Given the description of an element on the screen output the (x, y) to click on. 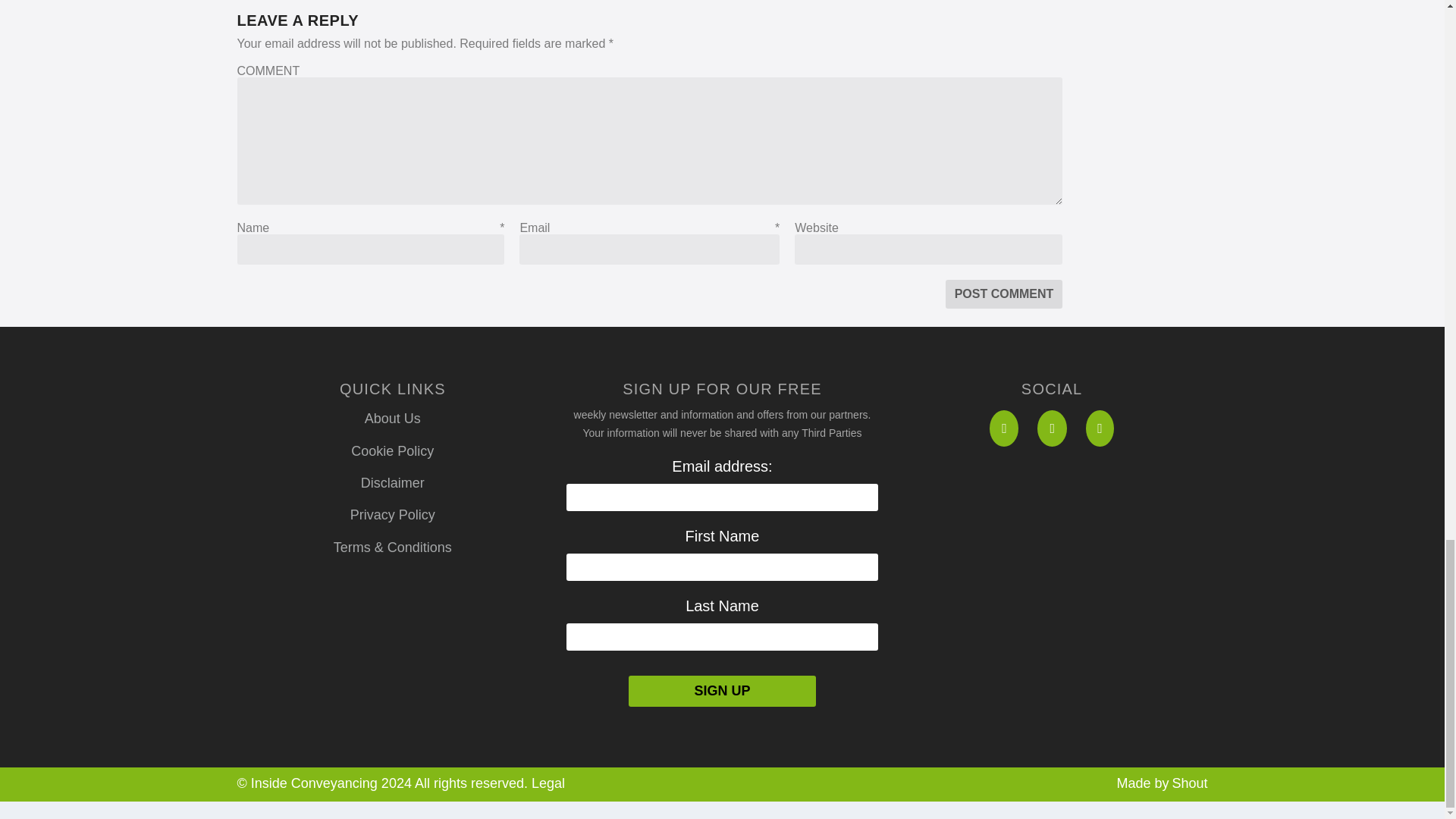
Post Comment (1003, 294)
Sign up (721, 690)
